Given the description of an element on the screen output the (x, y) to click on. 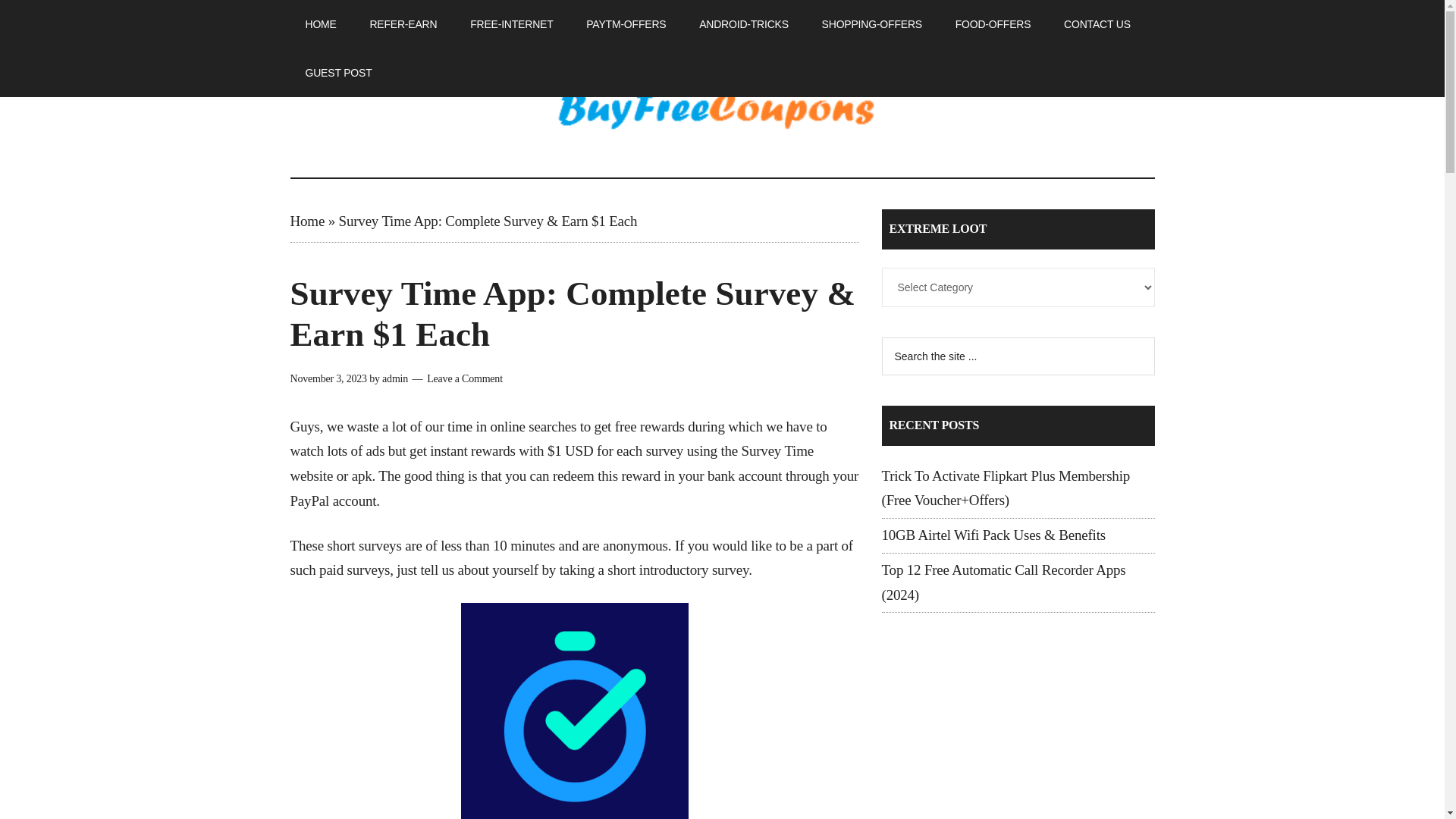
GUEST POST (338, 72)
CONTACT US (1096, 24)
Buyfreecoupons (721, 112)
SHOPPING-OFFERS (871, 24)
PAYTM-OFFERS (625, 24)
ANDROID-TRICKS (743, 24)
FOOD-OFFERS (993, 24)
REFER-EARN (402, 24)
admin (394, 378)
Leave a Comment (464, 378)
Home (306, 220)
HOME (319, 24)
